Given the description of an element on the screen output the (x, y) to click on. 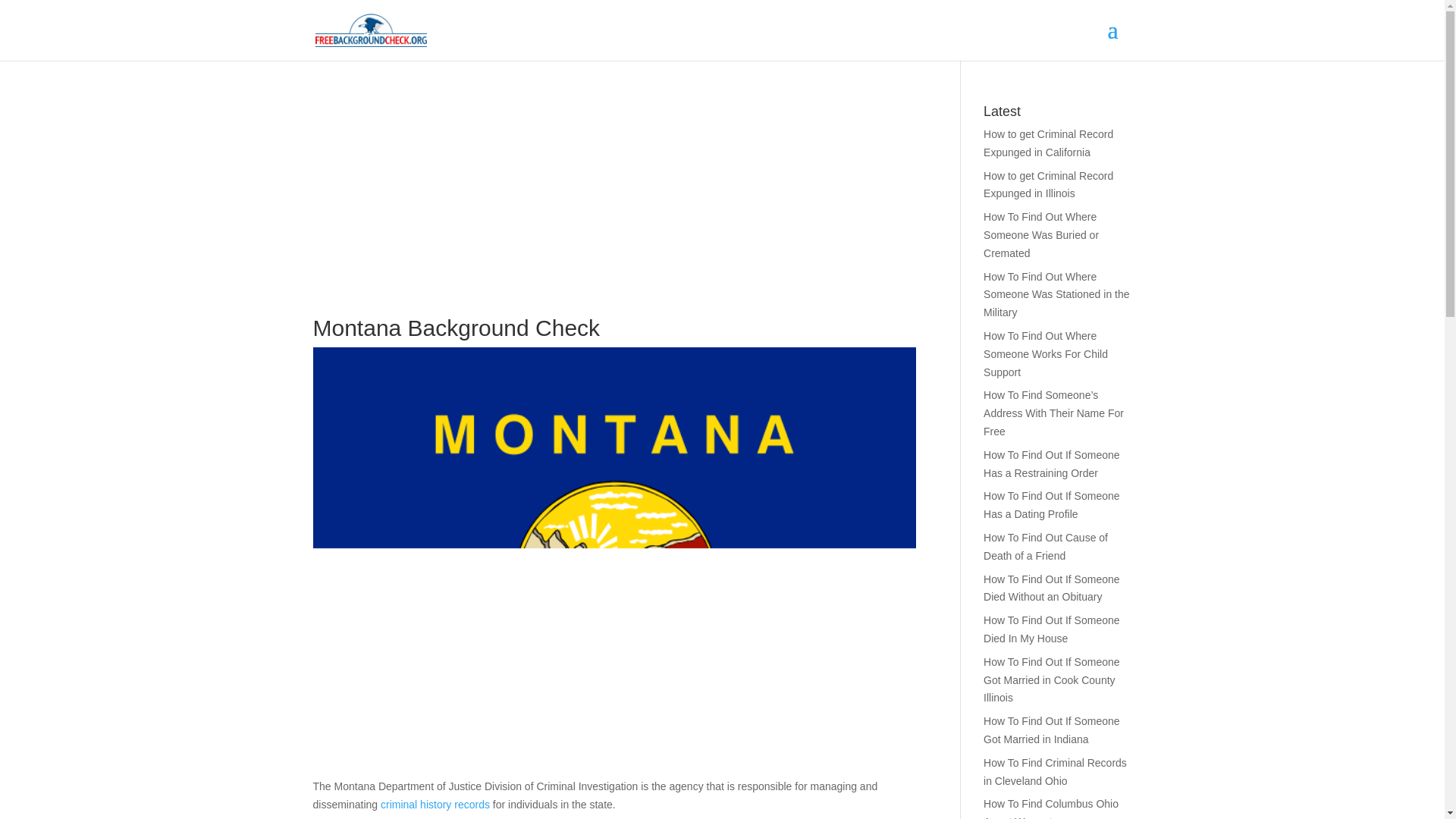
How To Find Out Where Someone Was Stationed in the Military (1056, 295)
How To Find Out Where Someone Works For Child Support (1046, 354)
How To Find Out If Someone Got Married in Indiana (1051, 729)
How To Find Out If Someone Has a Restraining Order (1051, 463)
How To Find Out If Someone Died In My House (1051, 629)
criminal history records (434, 804)
How to get Criminal Record Expunged in California (1048, 142)
How To Find Out Where Someone Was Buried or Cremated (1041, 234)
How To Find Out If Someone Died Without an Obituary (1051, 588)
Advertisement (614, 210)
